Given the description of an element on the screen output the (x, y) to click on. 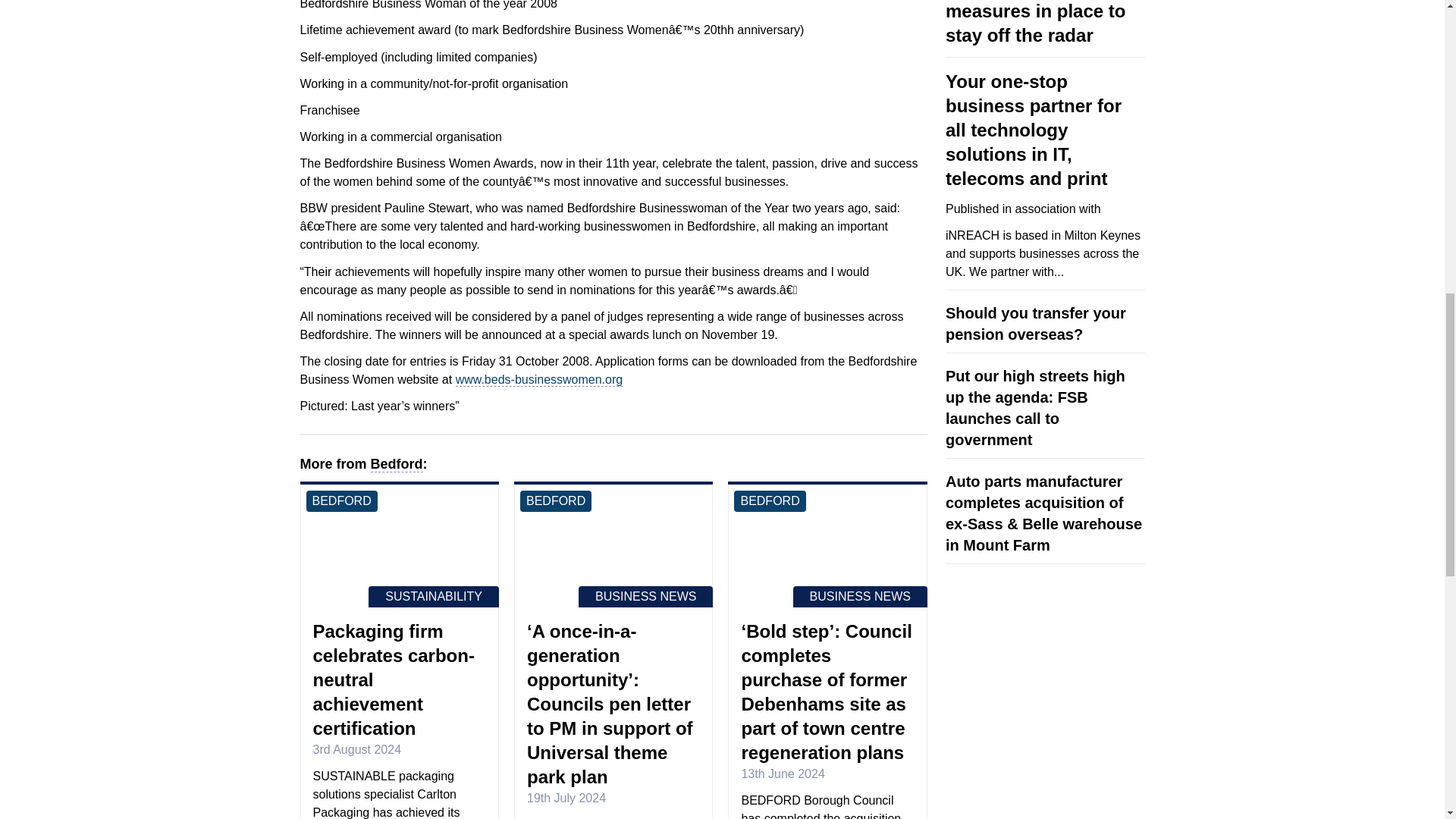
See all bedford (555, 500)
See all bedford (341, 500)
See all sustainability (433, 596)
See all business news (645, 596)
